Given the description of an element on the screen output the (x, y) to click on. 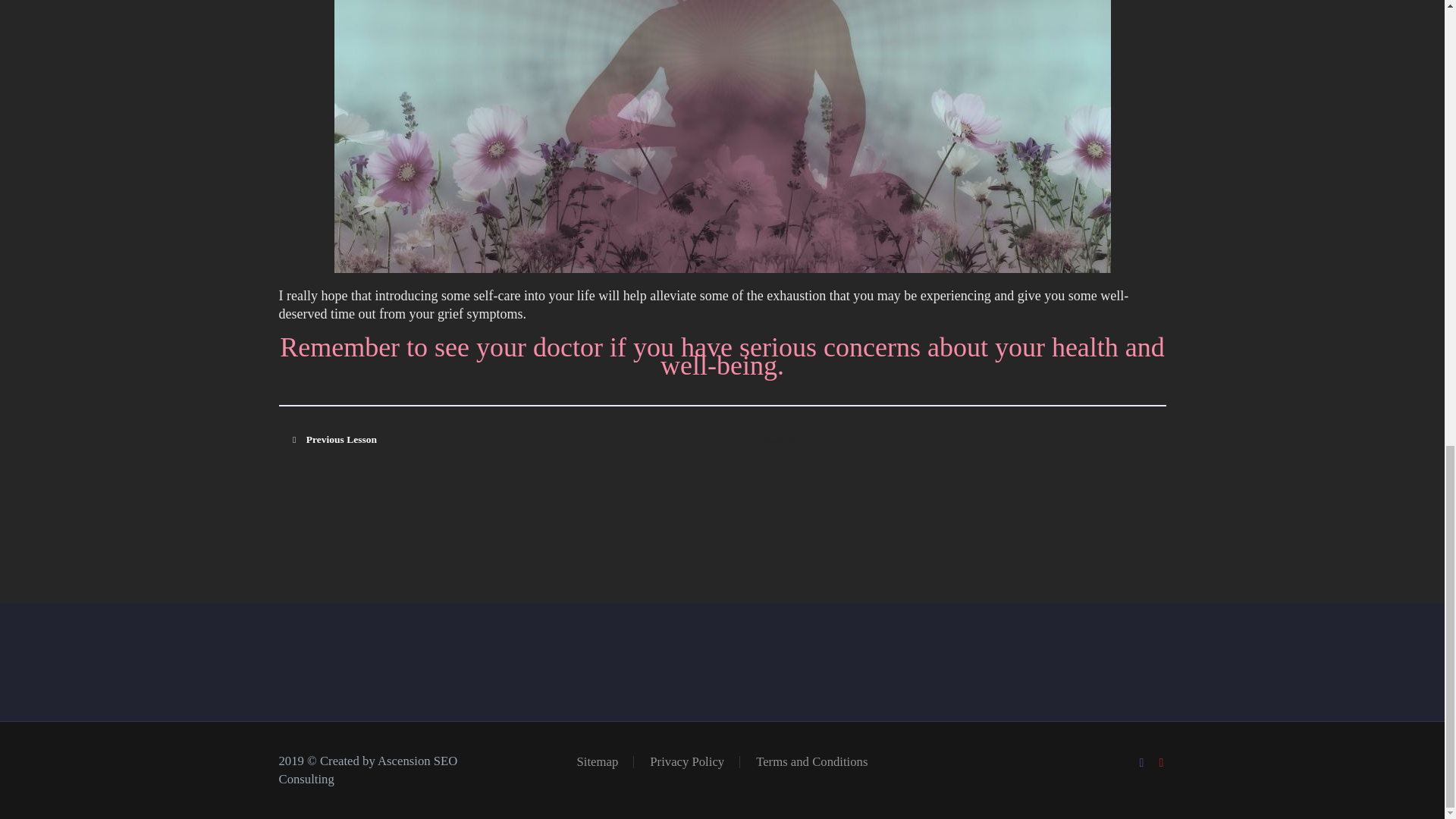
Back to (779, 440)
Facebook (1141, 762)
Previous Lesson (339, 440)
YouTube (1161, 762)
